Given the description of an element on the screen output the (x, y) to click on. 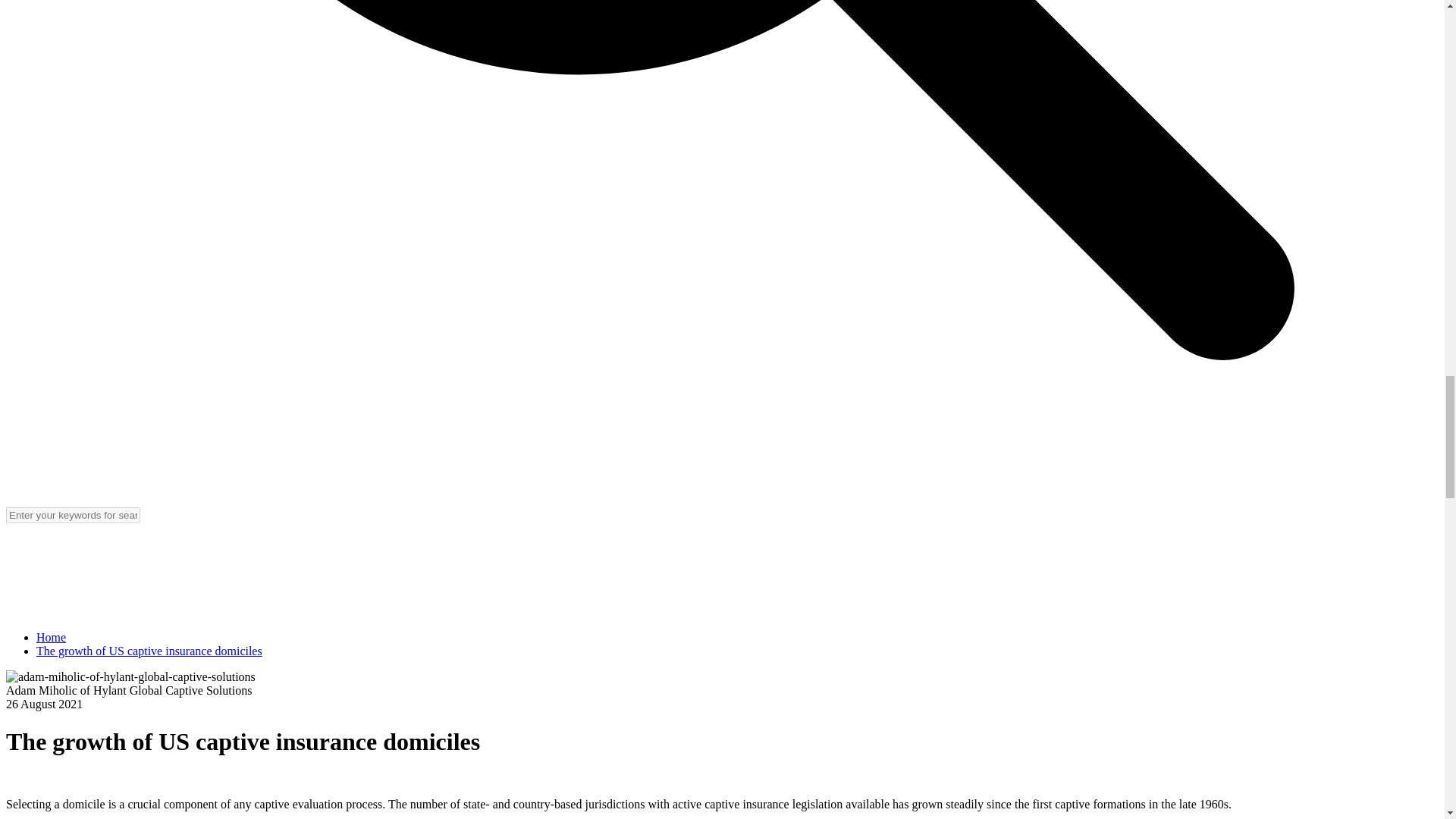
The growth of US captive insurance domiciles (149, 650)
Home (50, 636)
